Given the description of an element on the screen output the (x, y) to click on. 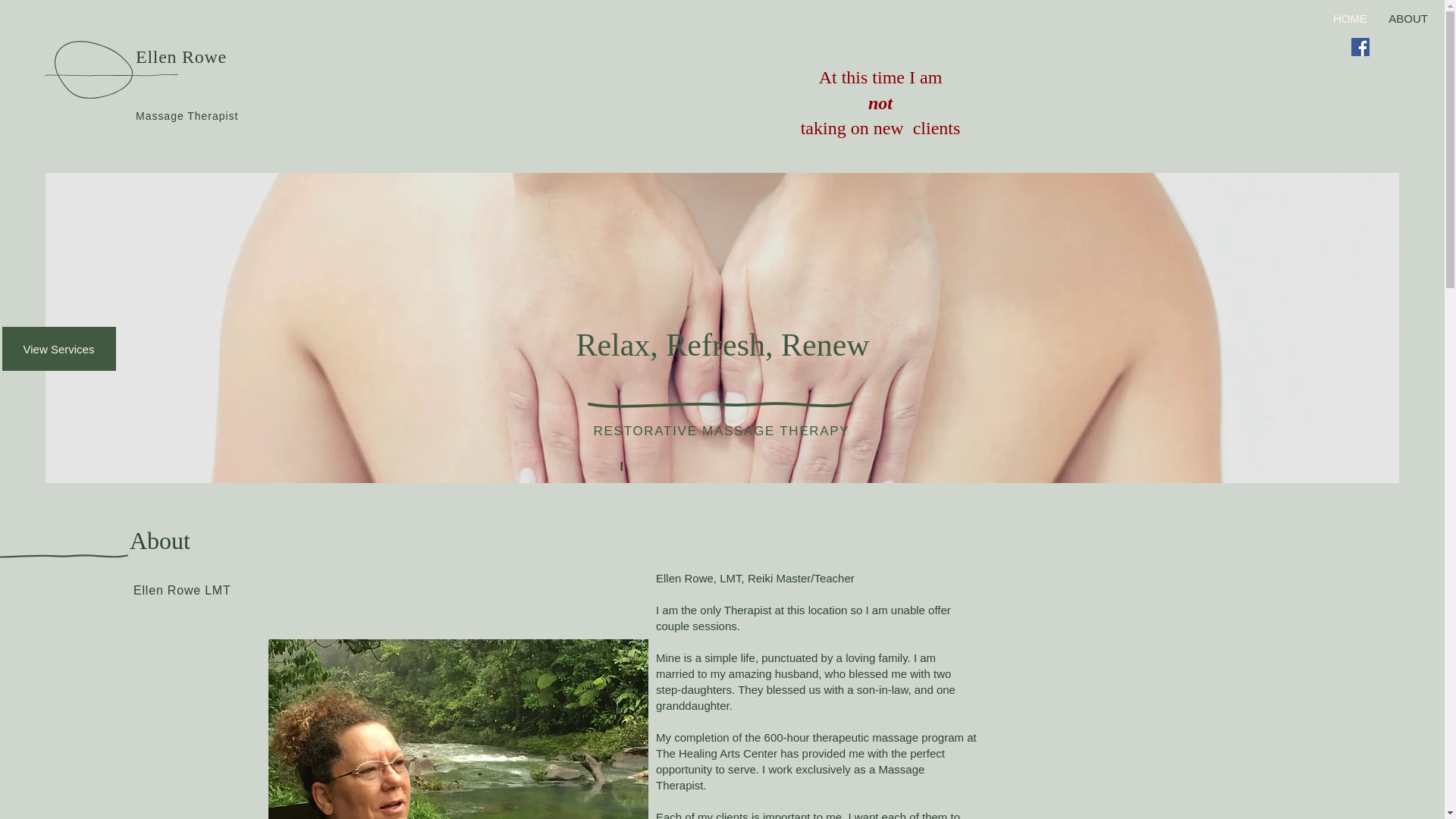
Ellen Rowe (181, 56)
Massage Therapist (186, 115)
HOME (1349, 18)
View Services (58, 348)
ABOUT (1408, 18)
